Given the description of an element on the screen output the (x, y) to click on. 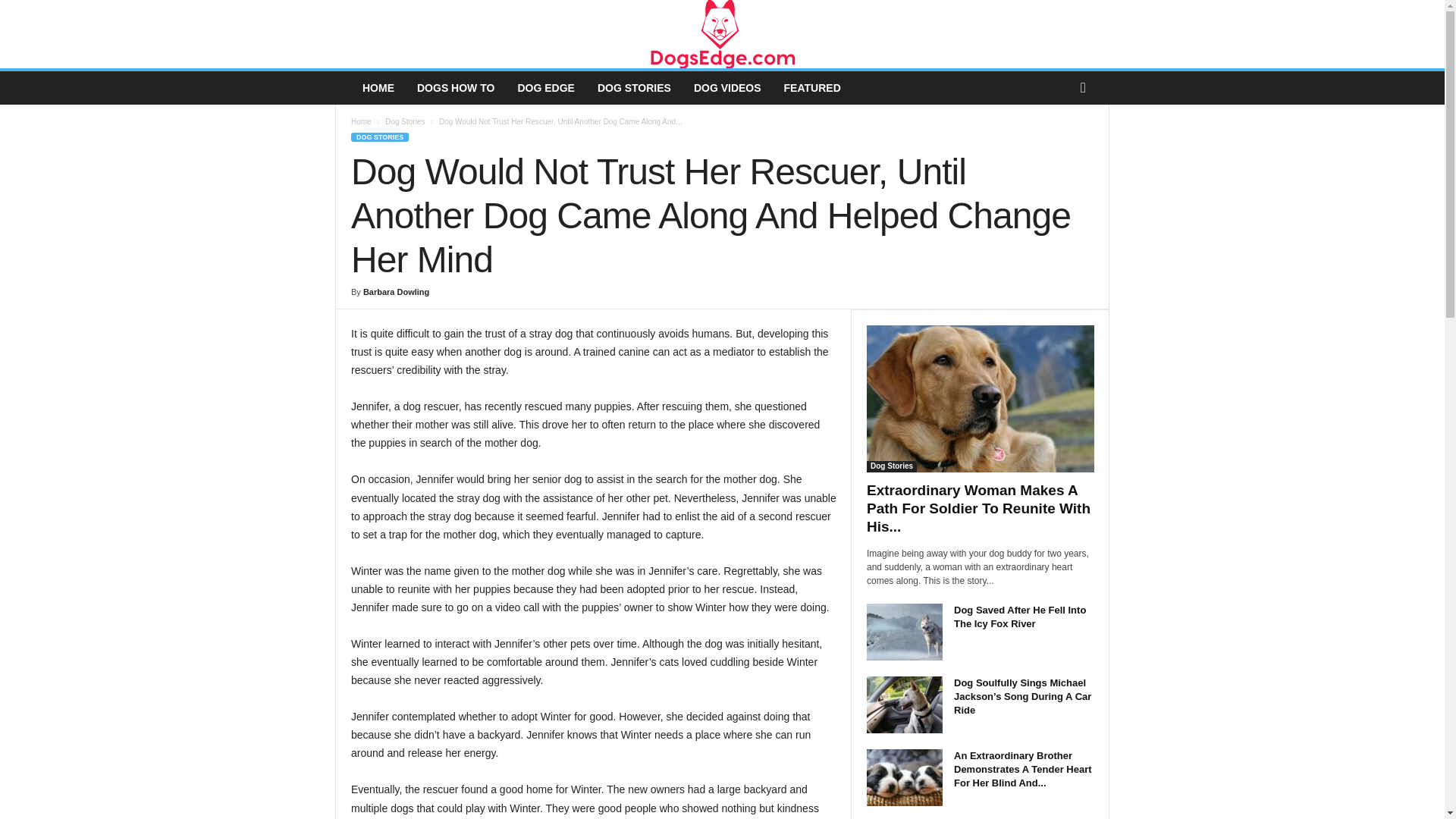
Home (360, 121)
FEATURED (812, 87)
DOG EDGE (545, 87)
HOME (378, 87)
DOGS HOW TO (455, 87)
DOG VIDEOS (727, 87)
Dog Stories (405, 121)
View all posts in Dog Stories (405, 121)
Barbara Dowling (395, 291)
DOG STORIES (634, 87)
DOG STORIES (379, 136)
